Given the description of an element on the screen output the (x, y) to click on. 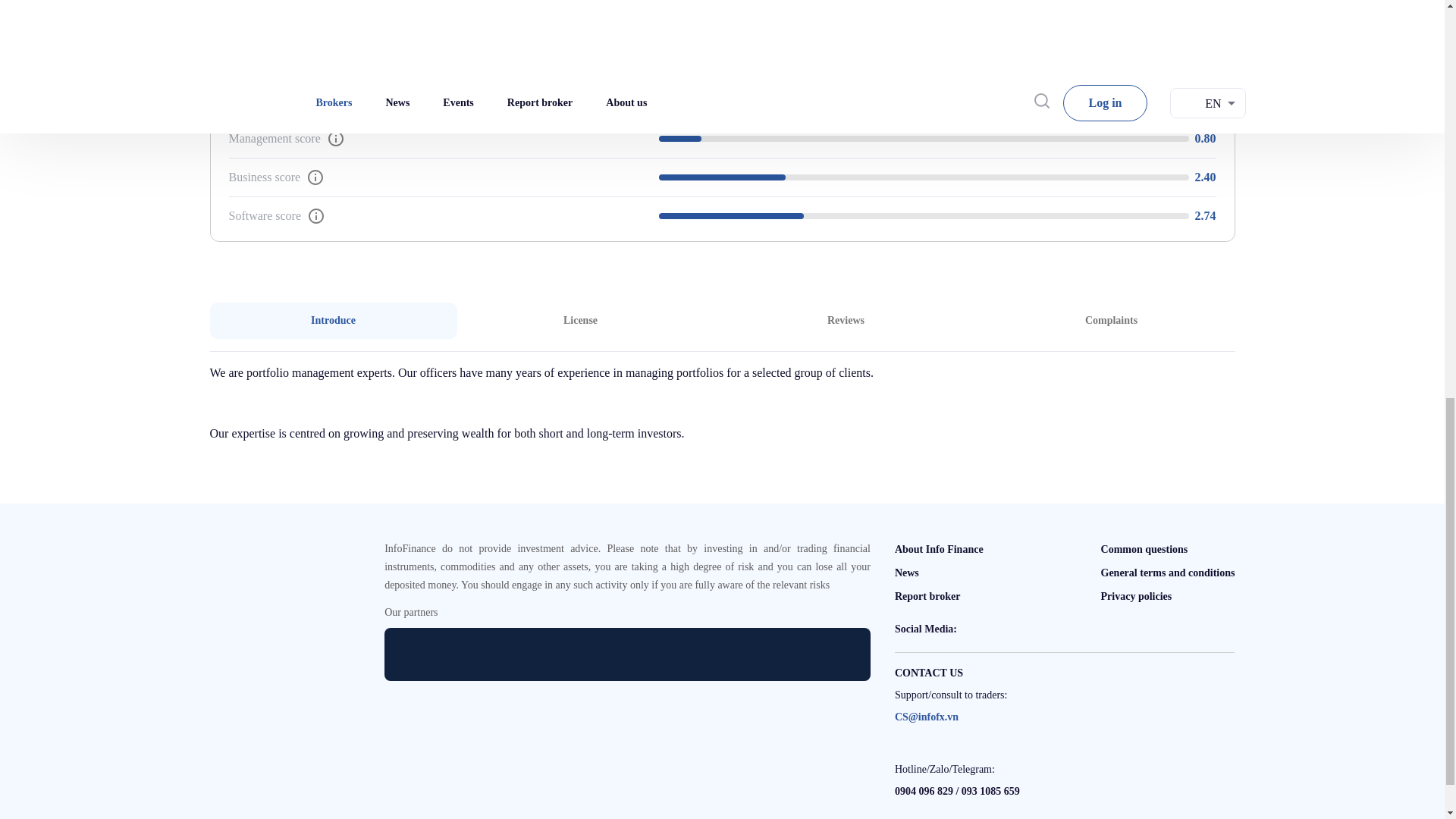
Common questions (1144, 549)
News (906, 572)
General terms and conditions (1167, 572)
Privacy policies (1136, 595)
About Info Finance (939, 549)
Complaints (1110, 320)
License (580, 320)
Report broker (927, 595)
Reviews (721, 320)
Introduce (845, 320)
